Given the description of an element on the screen output the (x, y) to click on. 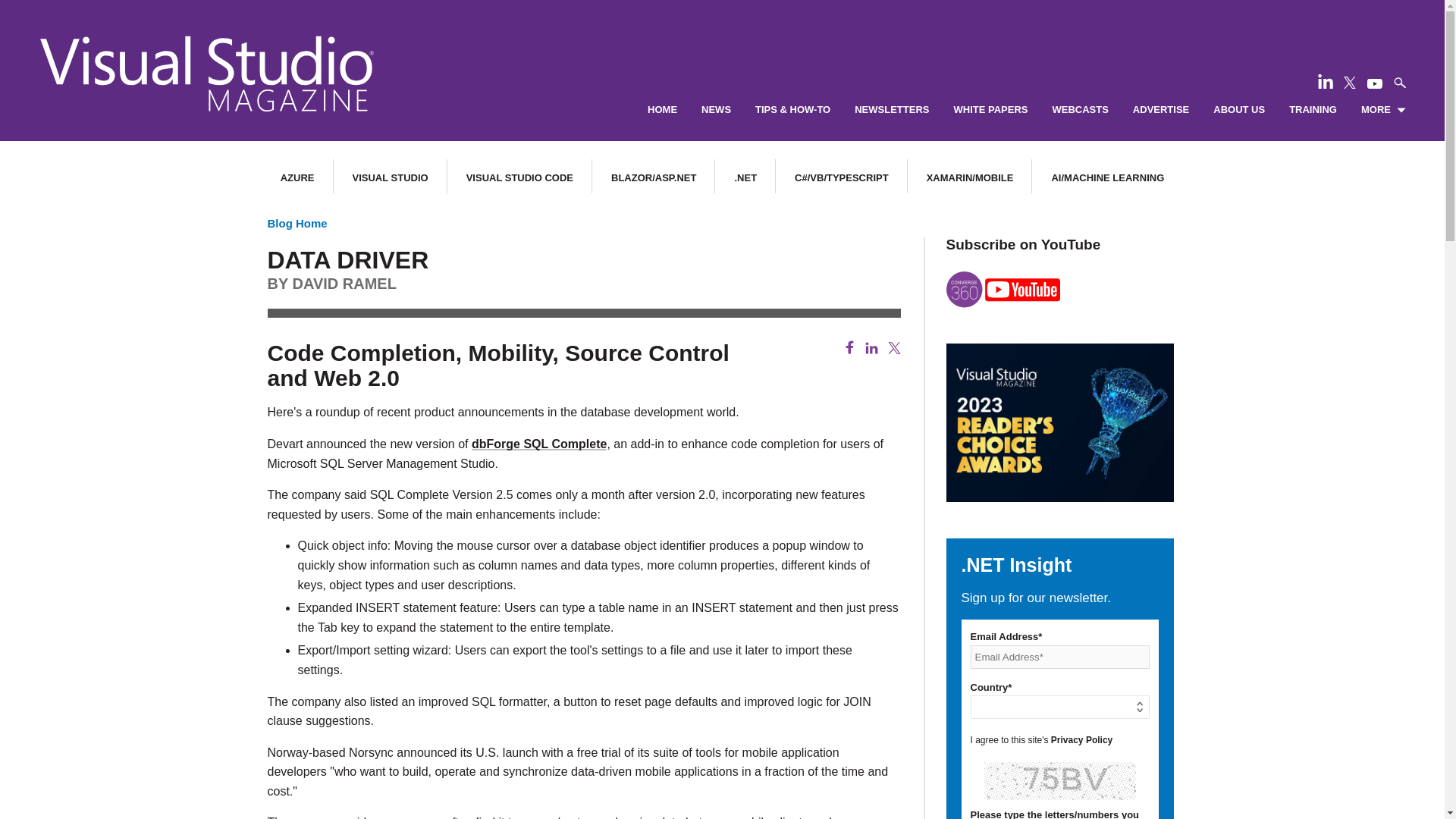
ABOUT US (1238, 109)
NEWS (715, 109)
MORE (1383, 109)
ADVERTISE (1160, 109)
.NET (745, 177)
WEBCASTS (1079, 109)
HOME (662, 109)
VISUAL STUDIO CODE (519, 177)
NEWSLETTERS (891, 109)
WHITE PAPERS (990, 109)
TRAINING (1312, 109)
VISUAL STUDIO (390, 177)
AZURE (297, 177)
